Given the description of an element on the screen output the (x, y) to click on. 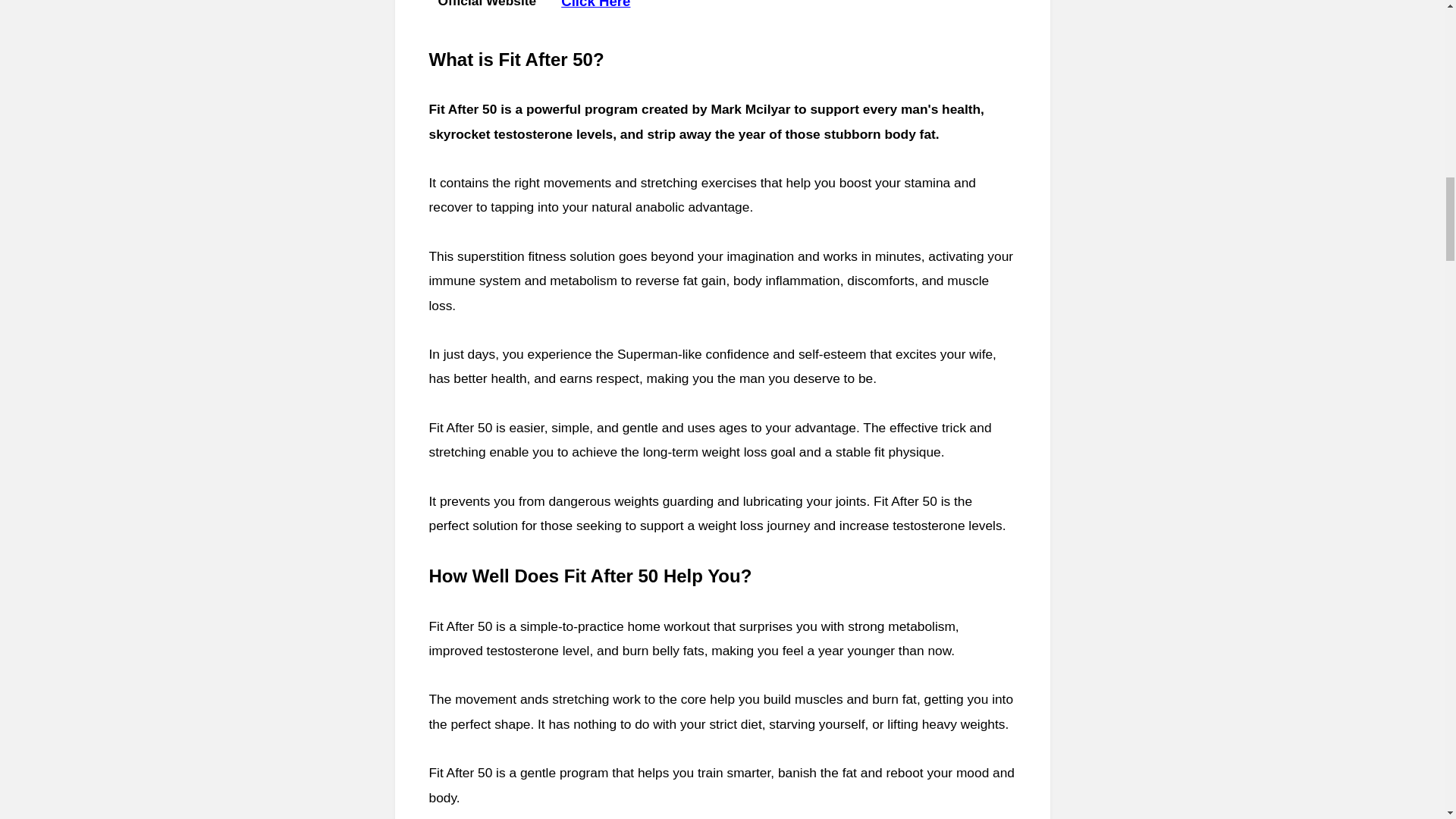
Click Here (595, 4)
testosterone level (537, 650)
